Given the description of an element on the screen output the (x, y) to click on. 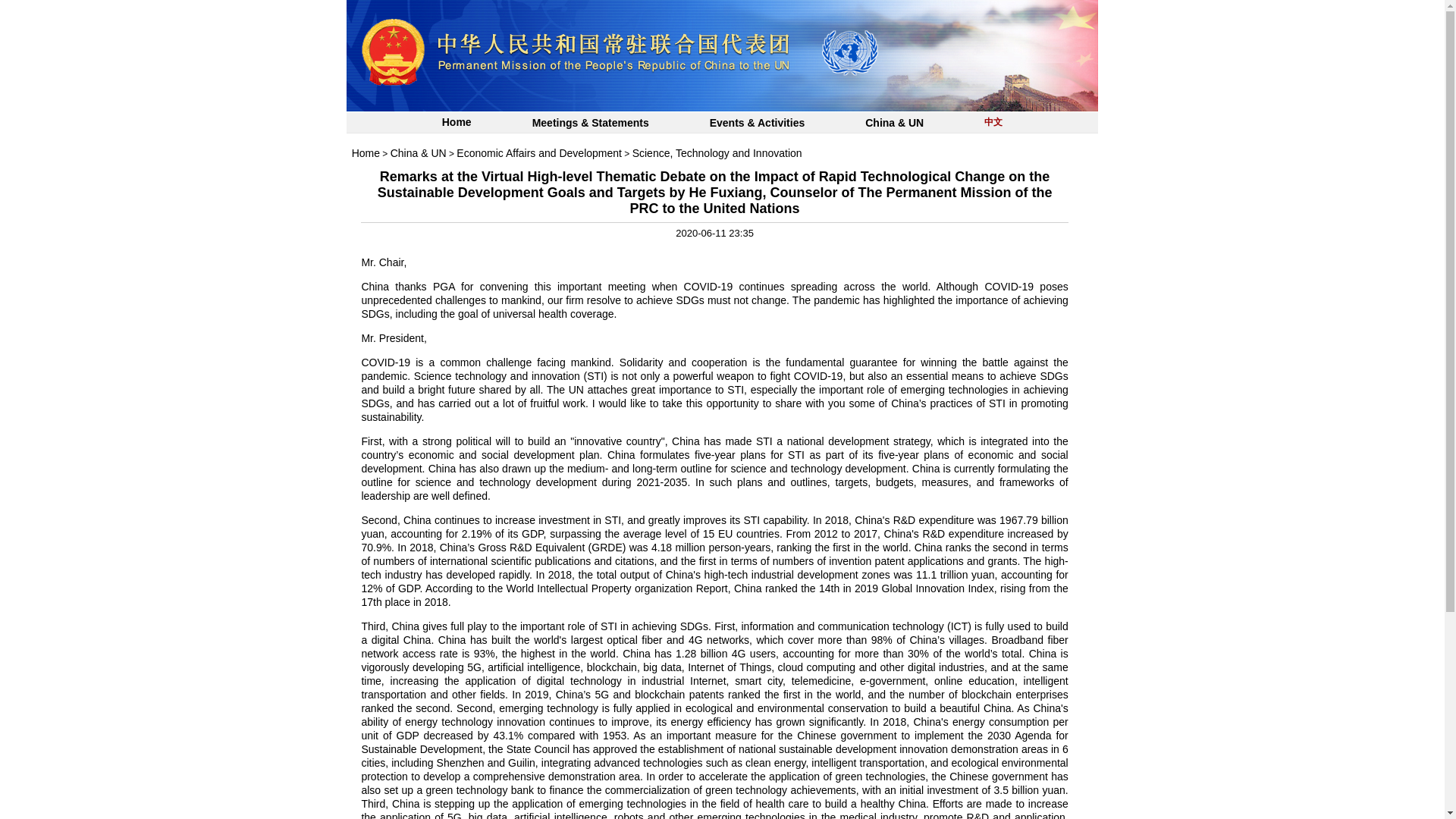
Science, Technology and Innovation (716, 152)
Home (366, 152)
Home (456, 122)
Home (366, 152)
Science, Technology and Innovation (716, 152)
Economic Affairs and Development (539, 152)
Economic Affairs and Development (539, 152)
